Given the description of an element on the screen output the (x, y) to click on. 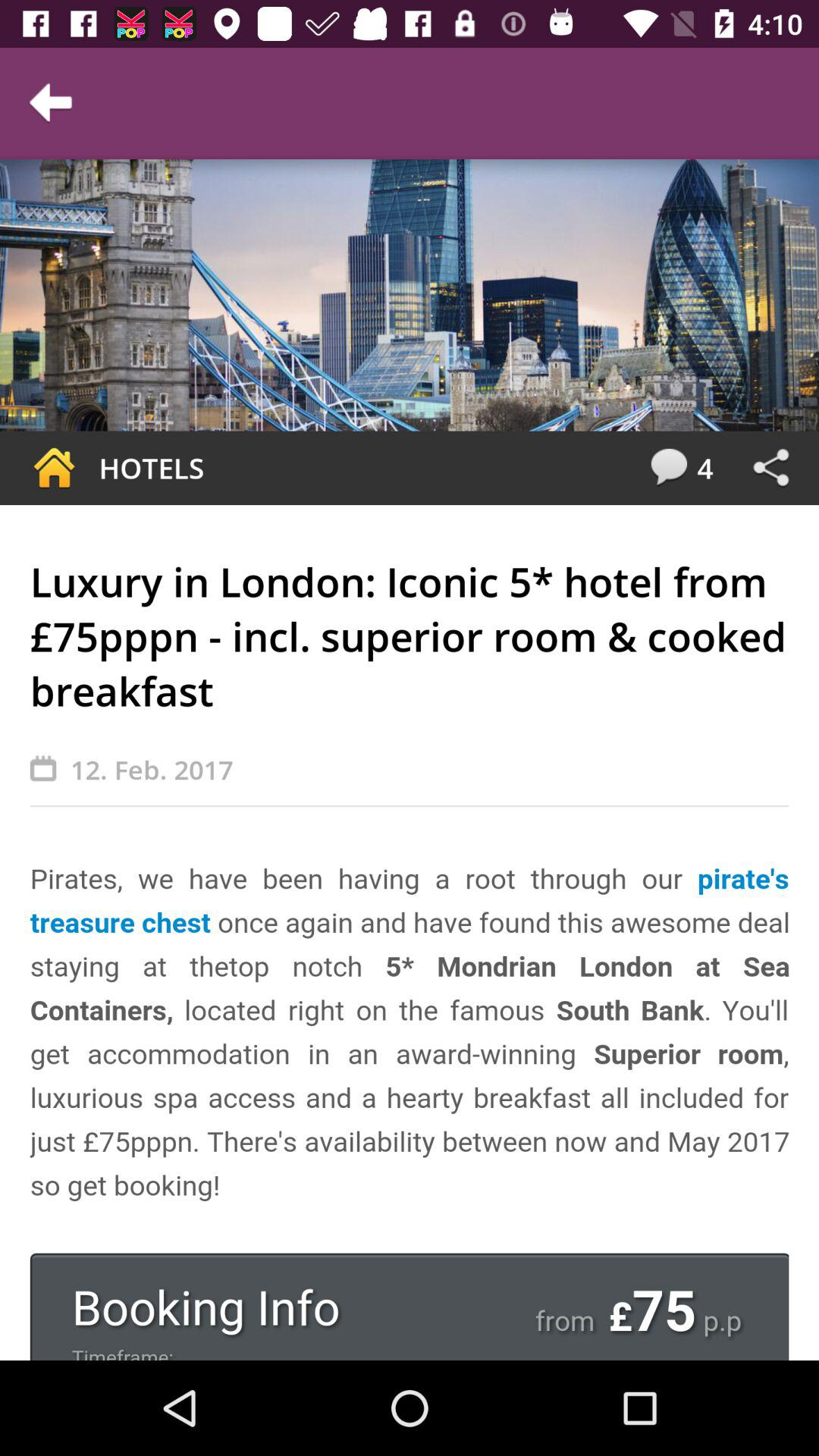
more details (409, 1108)
